Given the description of an element on the screen output the (x, y) to click on. 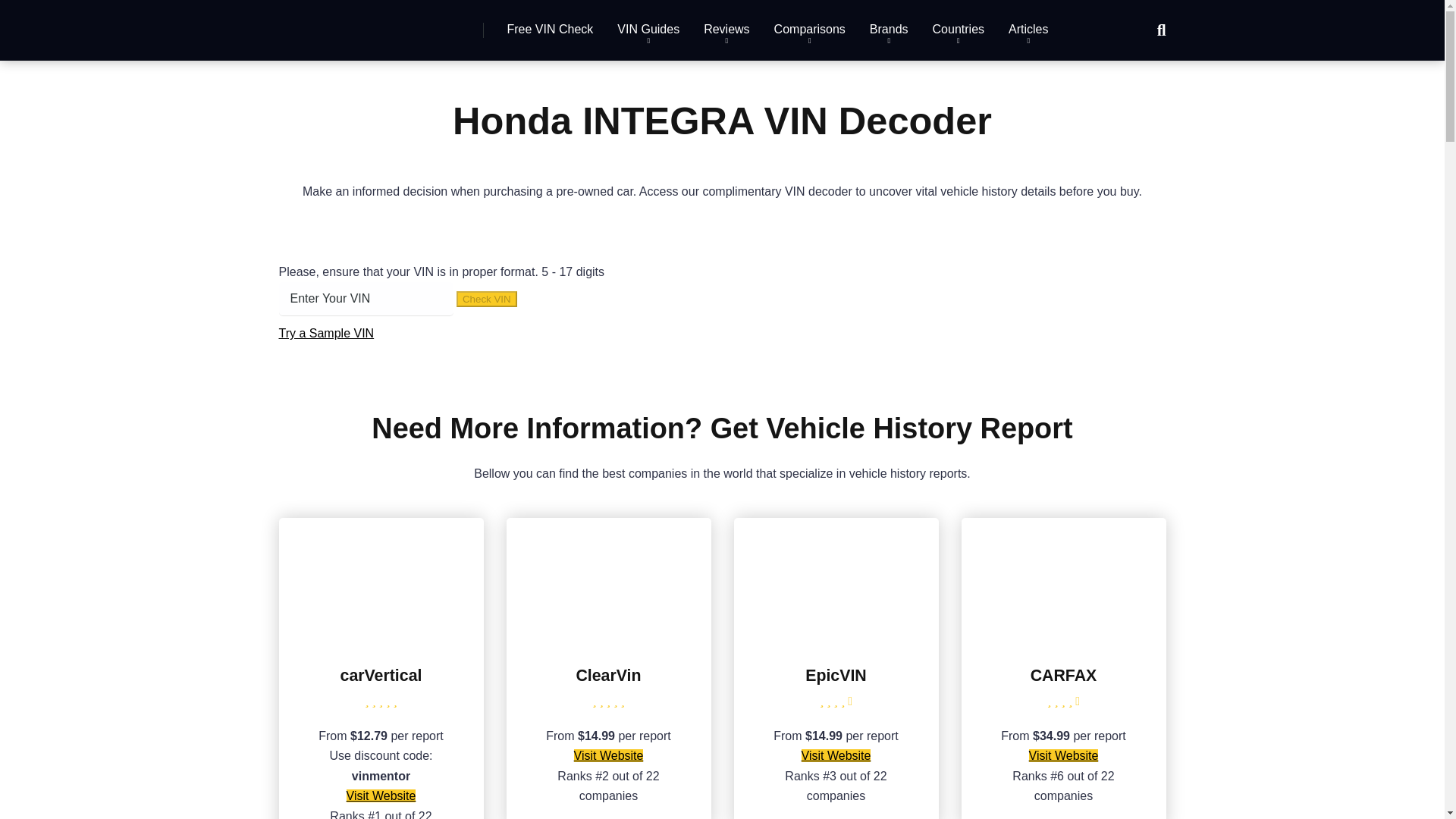
carVertical (380, 638)
Comparisons (809, 30)
VIN Mentor (346, 24)
ClearVin (607, 638)
Reviews (726, 30)
Countries (957, 30)
VIN Guides (648, 30)
ClearVin (607, 675)
carVertical (381, 675)
Free VIN Check (550, 30)
Visit Website (836, 755)
Visit Website (381, 795)
EpicVIN (835, 638)
CARFAX (1062, 638)
CARFAX (1063, 675)
